Given the description of an element on the screen output the (x, y) to click on. 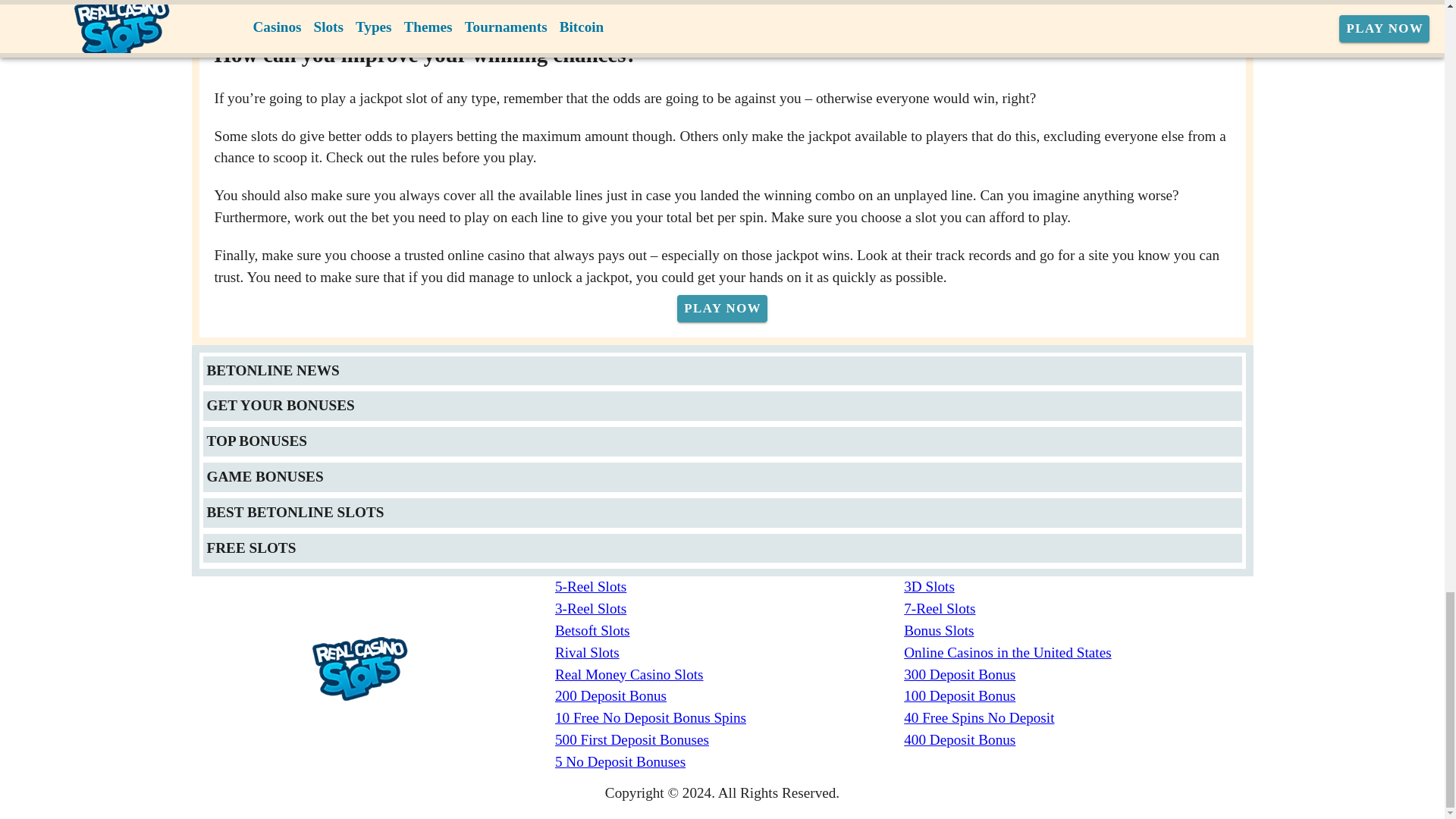
Bonus Slots (1078, 630)
40 Free Spins No Deposit (1078, 718)
5 No Deposit Bonuses (729, 762)
7-Reel Slots (1078, 608)
500 First Deposit Bonuses (729, 740)
5-Reel Slots (729, 587)
Real Money Casino Slots (729, 675)
200 Deposit Bonus (729, 696)
Rival Slots (729, 653)
Betsoft Slots (729, 630)
Online Casinos in the United States (1078, 653)
3-Reel Slots (729, 608)
100 Deposit Bonus (1078, 696)
3D Slots (1078, 587)
300 Deposit Bonus (1078, 675)
